Given the description of an element on the screen output the (x, y) to click on. 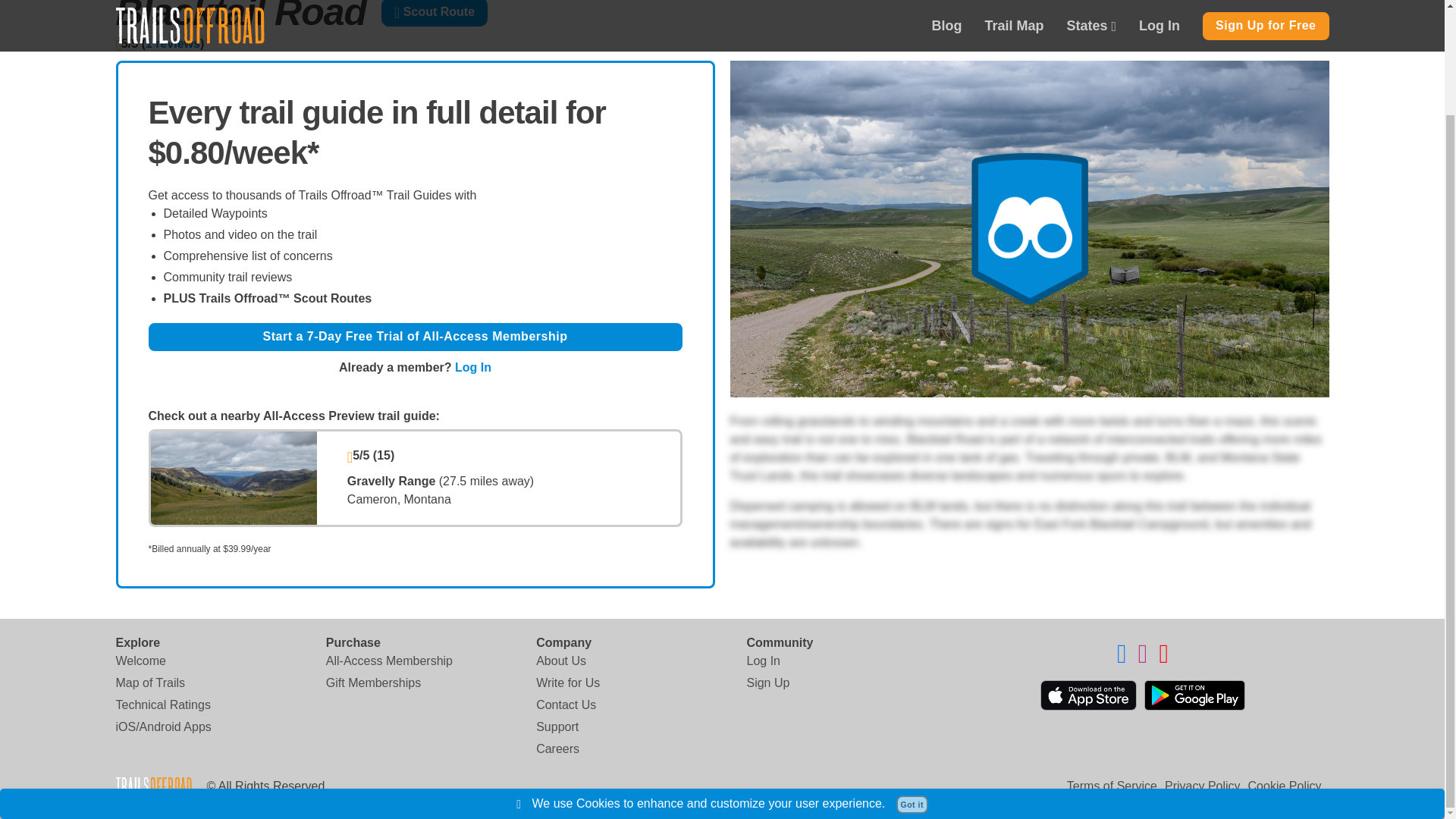
Welcome (140, 660)
Careers (557, 749)
Start a 7-Day Free Trial of All-Access Membership (415, 336)
Privacy Policy (1202, 786)
Log In (761, 660)
Map of Trails (149, 683)
Gift Memberships (373, 683)
Support (556, 727)
About Us (560, 660)
Got it (912, 681)
